Given the description of an element on the screen output the (x, y) to click on. 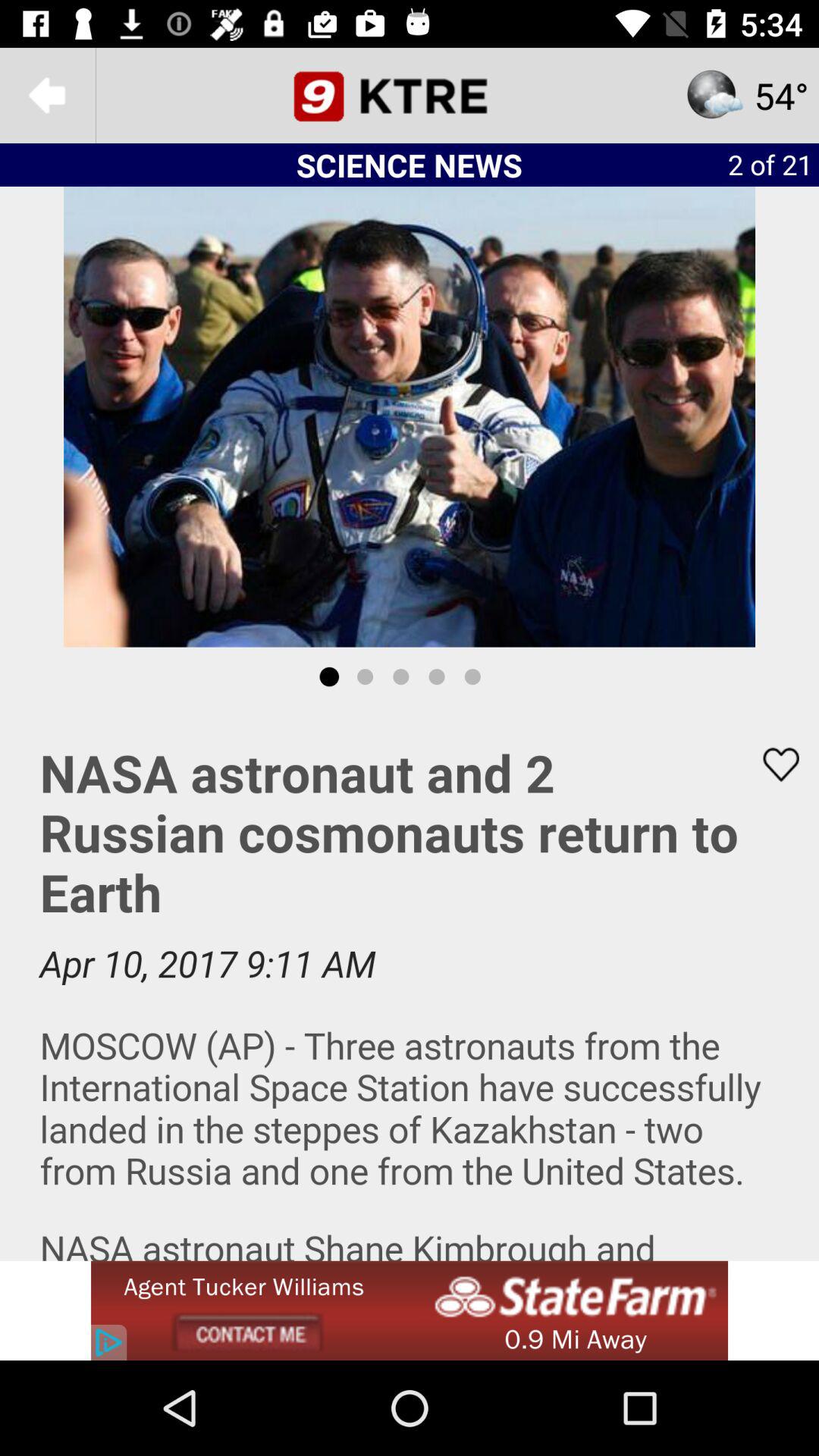
click to read full news (409, 983)
